Given the description of an element on the screen output the (x, y) to click on. 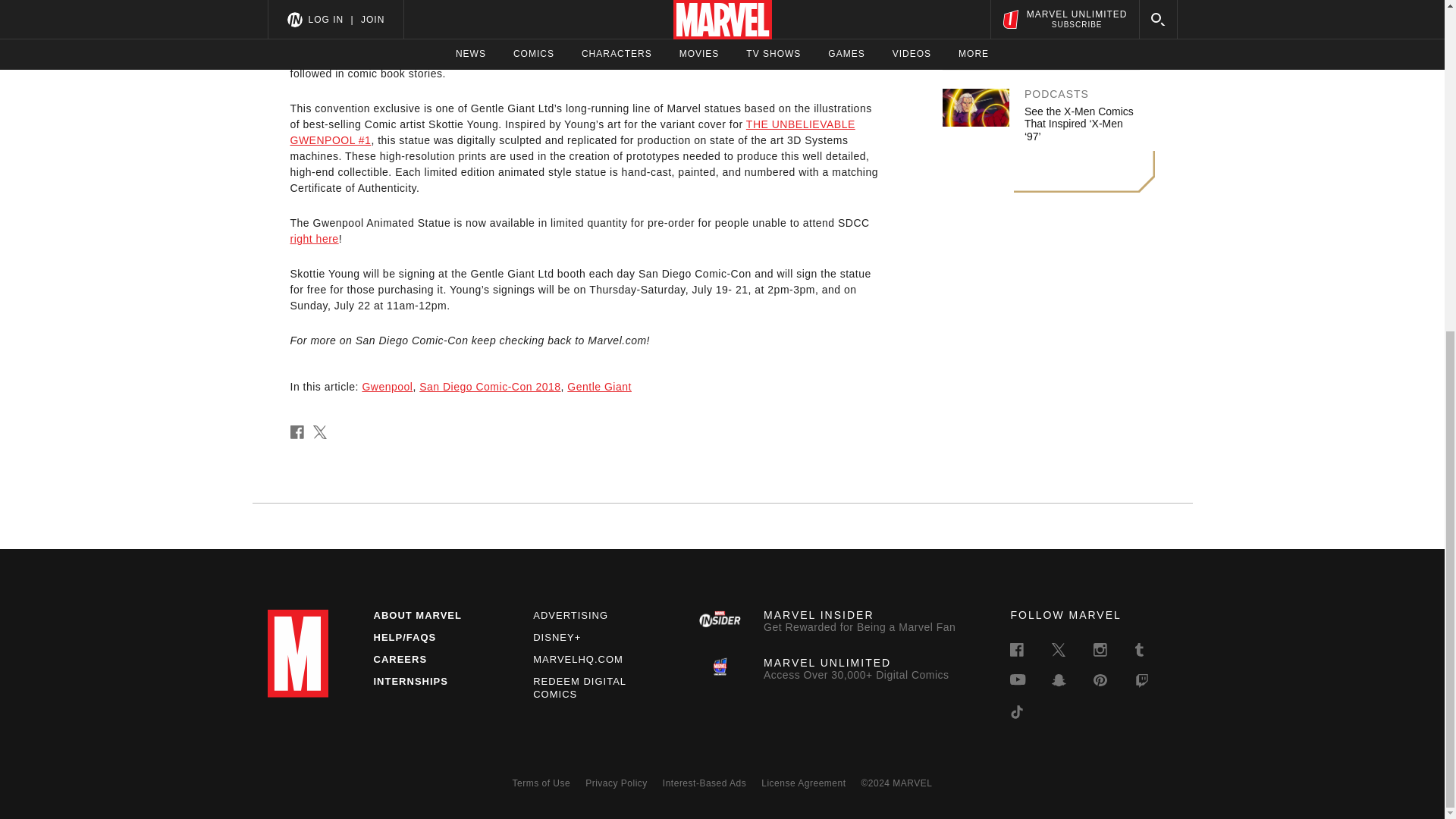
right here (313, 238)
Gentle Giant (599, 386)
San Diego Comic-Con 2018 (489, 386)
CAREERS (399, 659)
Gwenpool (386, 386)
August 7's New Marvel Comics: The Full List (1078, 30)
ABOUT MARVEL (416, 614)
